Given the description of an element on the screen output the (x, y) to click on. 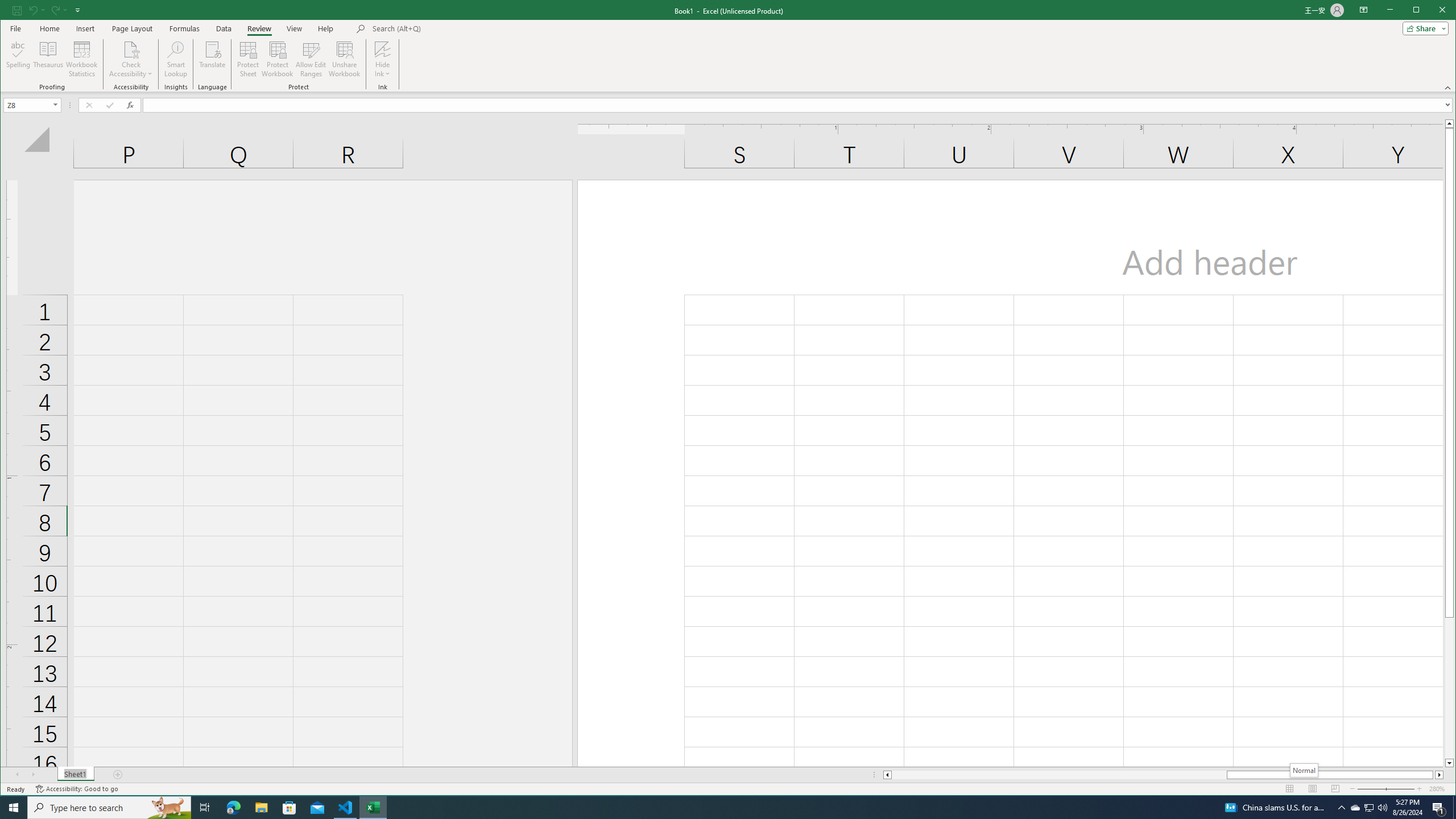
Protect Workbook... (277, 59)
Visual Studio Code - 1 running window (345, 807)
Workbook Statistics (1368, 807)
Notification Chevron (82, 59)
